Given the description of an element on the screen output the (x, y) to click on. 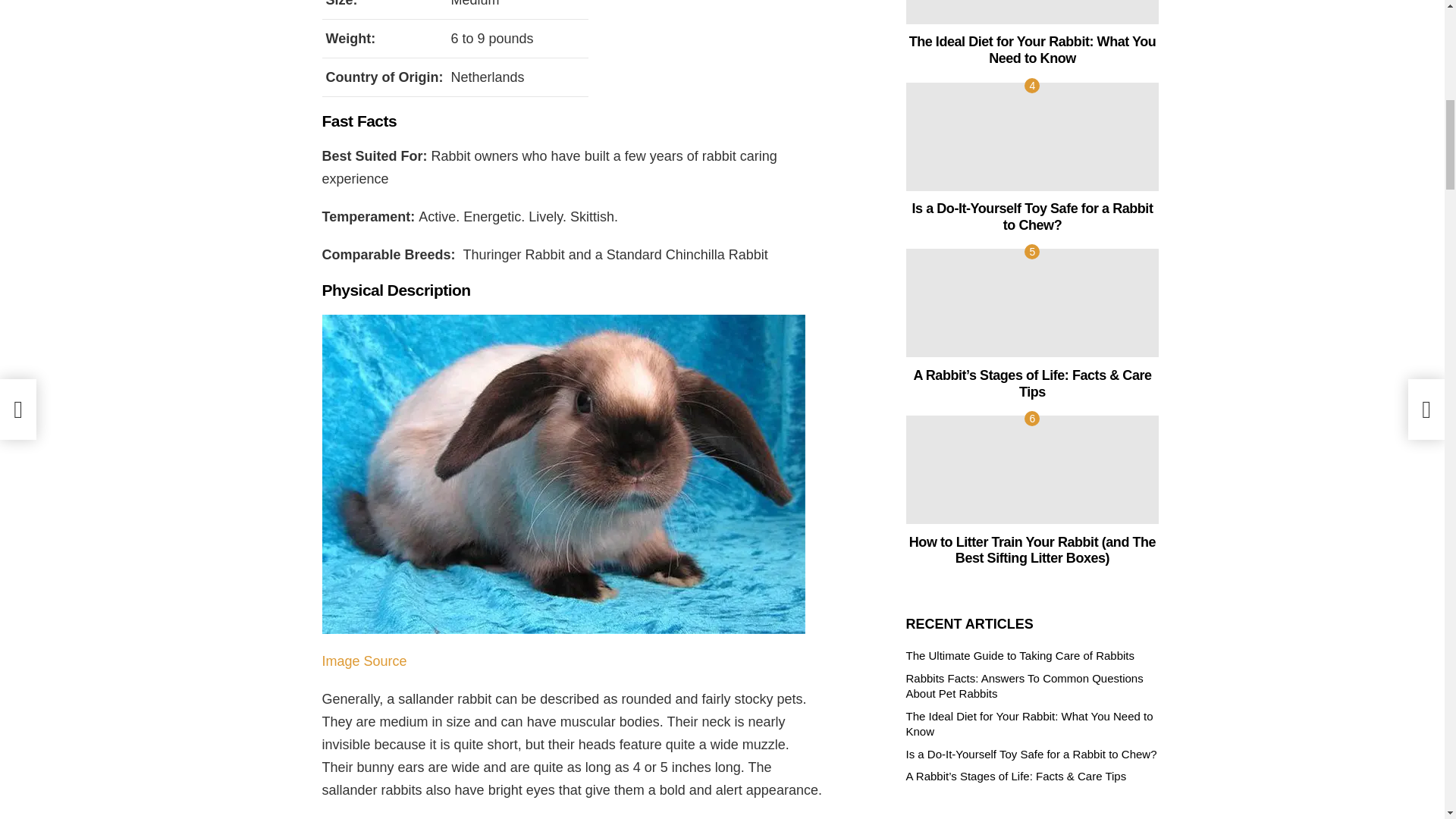
Image Source (363, 661)
The Ideal Diet for Your Rabbit: What You Need to Know (1031, 12)
Is a Do-It-Yourself Toy Safe for a Rabbit to Chew? (1031, 136)
